Given the description of an element on the screen output the (x, y) to click on. 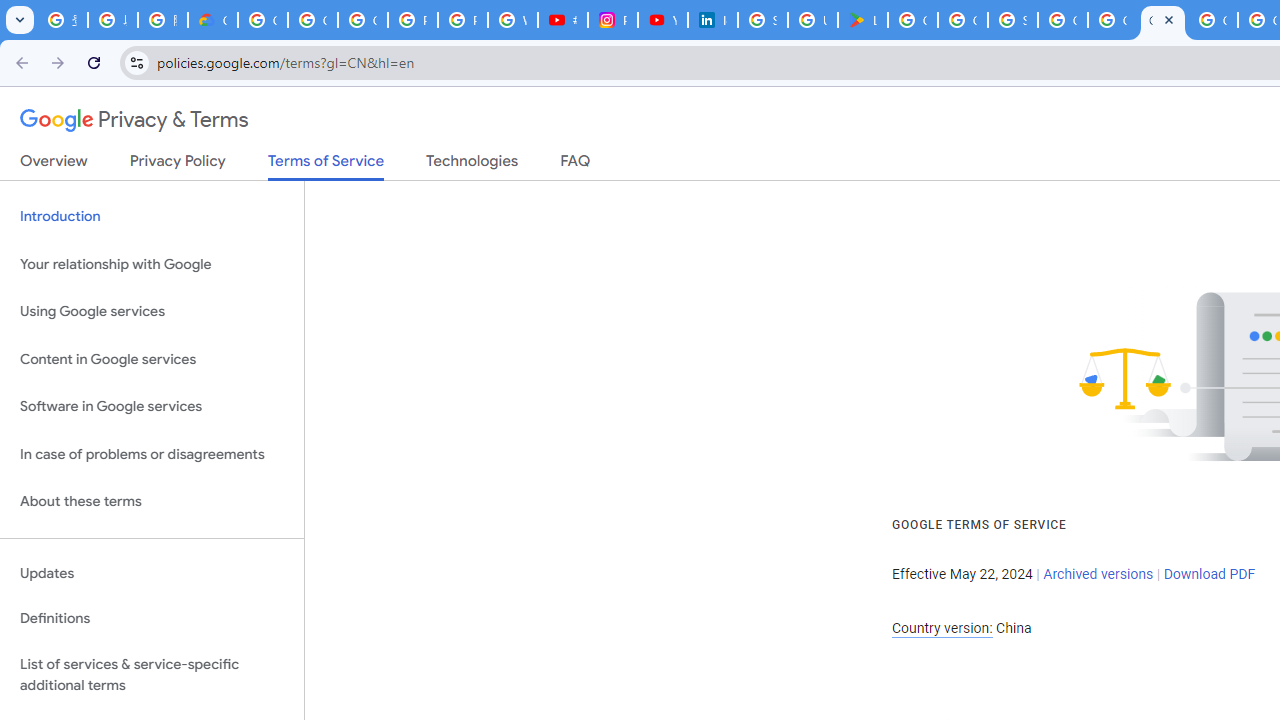
Sign in - Google Accounts (763, 20)
Using Google services (152, 312)
In case of problems or disagreements (152, 453)
Your relationship with Google (152, 263)
